Given the description of an element on the screen output the (x, y) to click on. 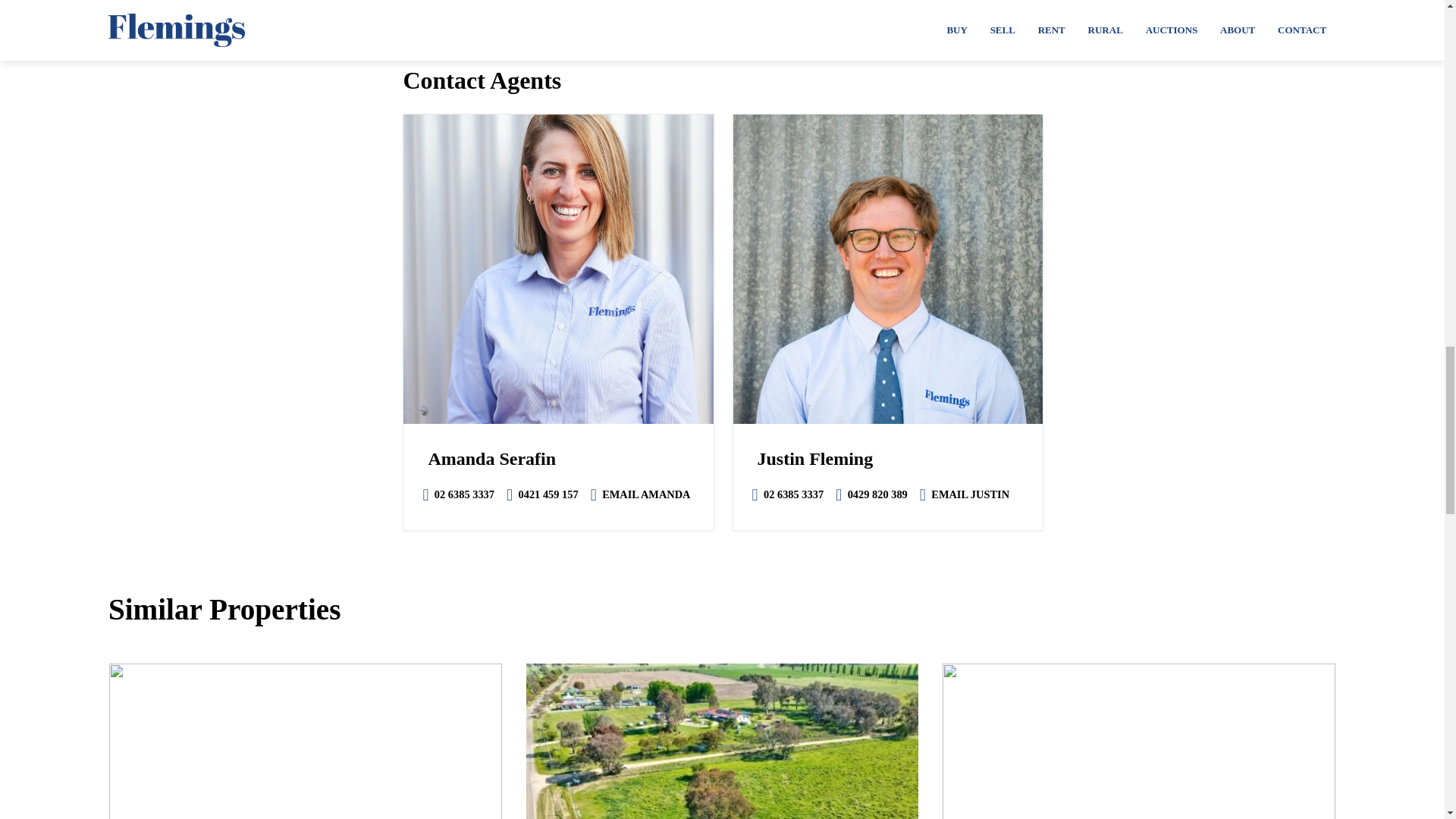
Justin Fleming (887, 269)
Amanda Serafin (558, 269)
Large, Attractive Building Block (305, 741)
Spacious Residential Block- Rural Surrounds (1138, 741)
Spacious Residential Block- Rural Surrounds (721, 741)
